Given the description of an element on the screen output the (x, y) to click on. 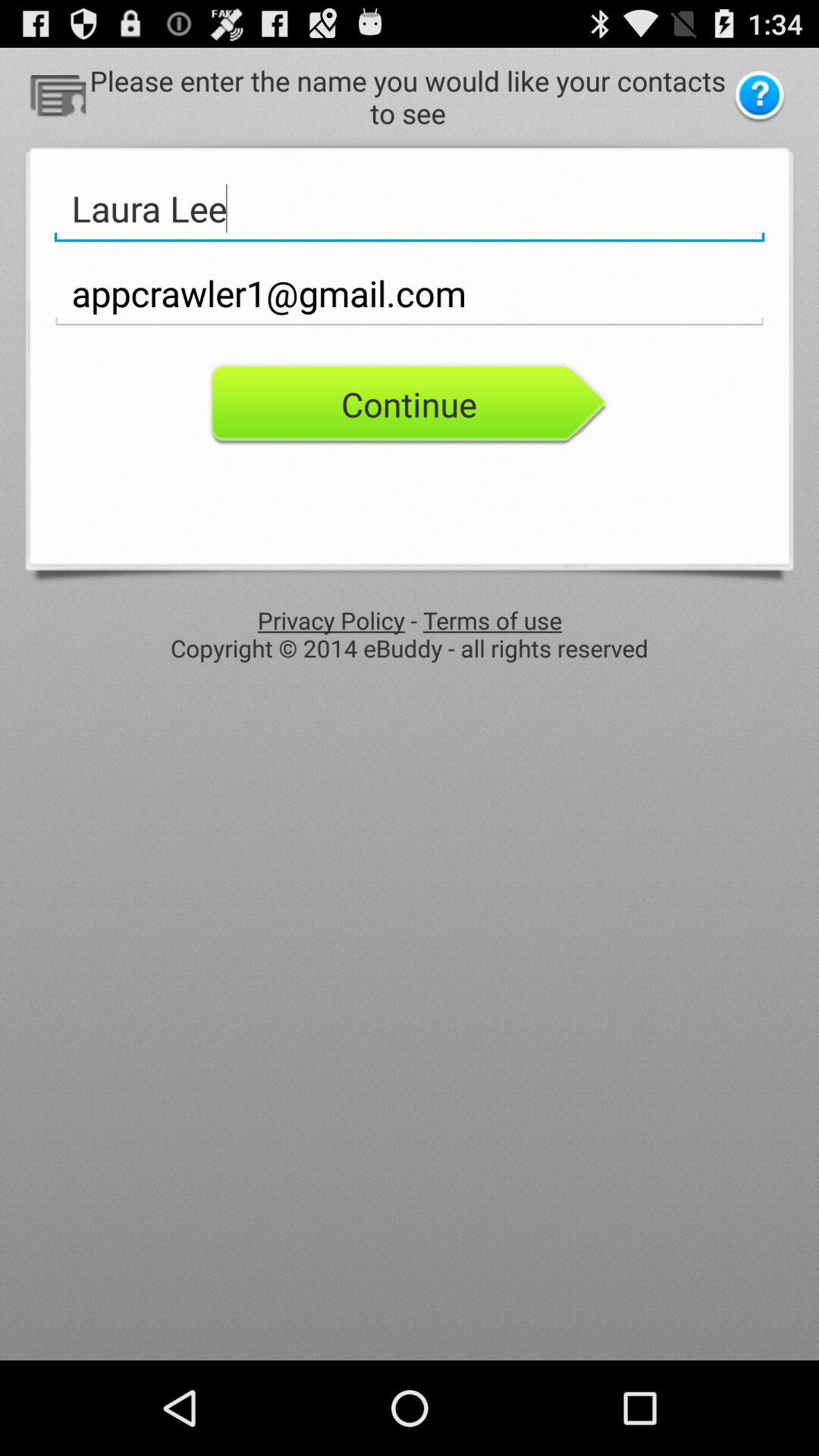
help to know (759, 96)
